Given the description of an element on the screen output the (x, y) to click on. 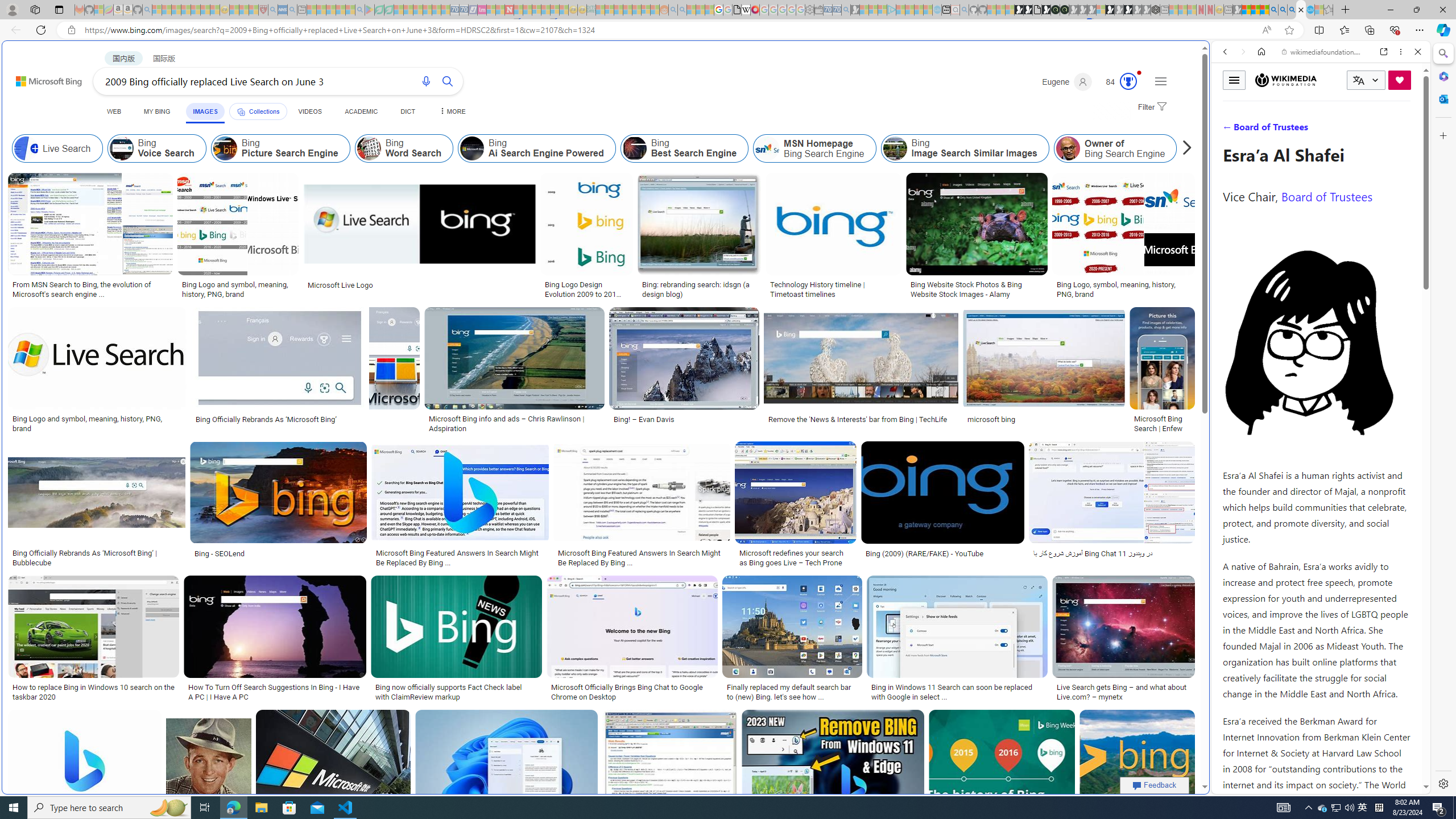
2009 Bing officially replaced Live Search on June 3 - Search (1283, 9)
CURRENT LANGUAGE: (1366, 80)
New Report Confirms 2023 Was Record Hot | Watch - Sleeping (195, 9)
Bing Real Estate - Home sales and rental listings - Sleeping (846, 9)
